Given the description of an element on the screen output the (x, y) to click on. 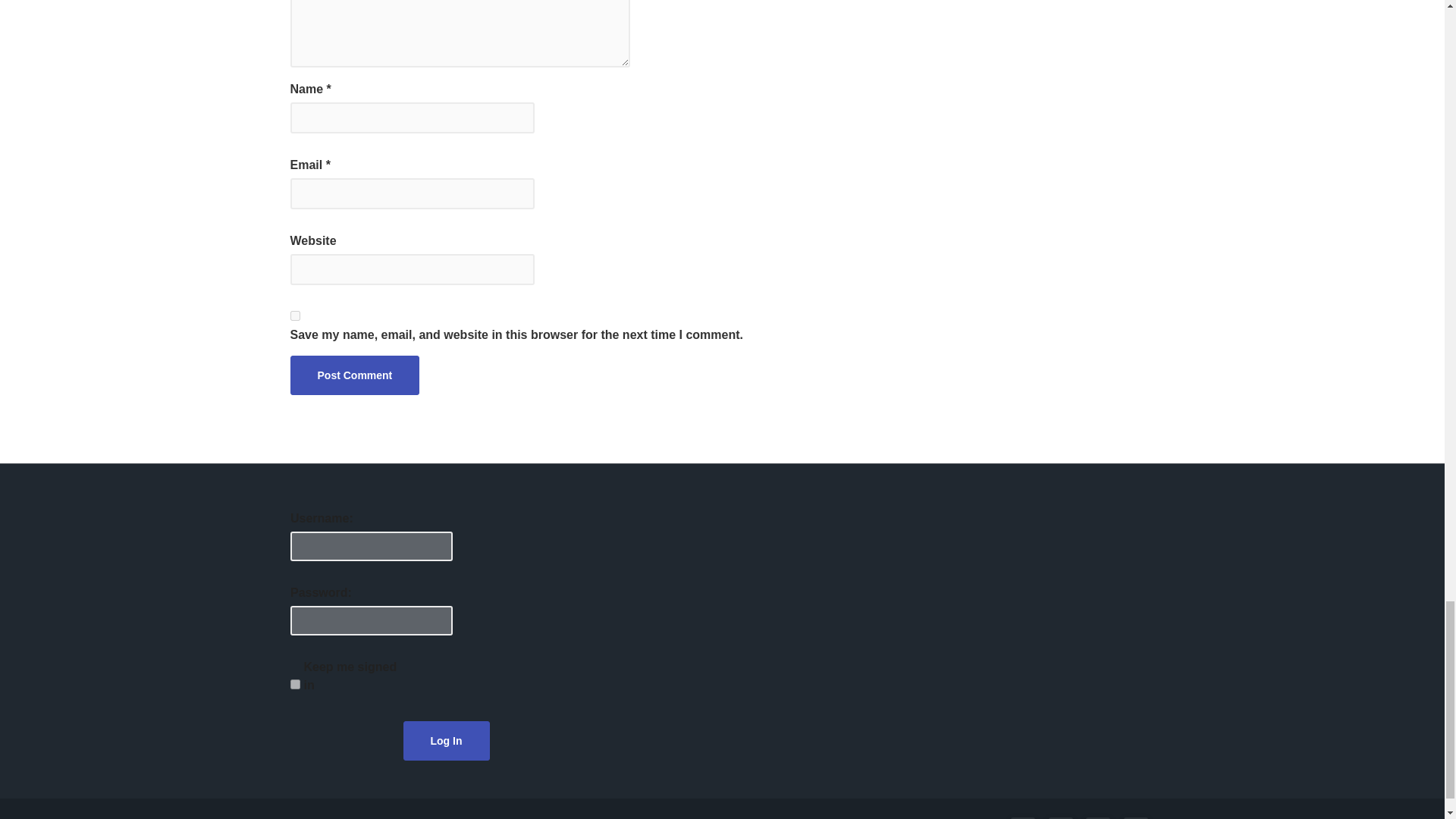
Log In (446, 740)
Post Comment (354, 374)
yes (294, 316)
Post Comment (354, 374)
forever (294, 684)
